Given the description of an element on the screen output the (x, y) to click on. 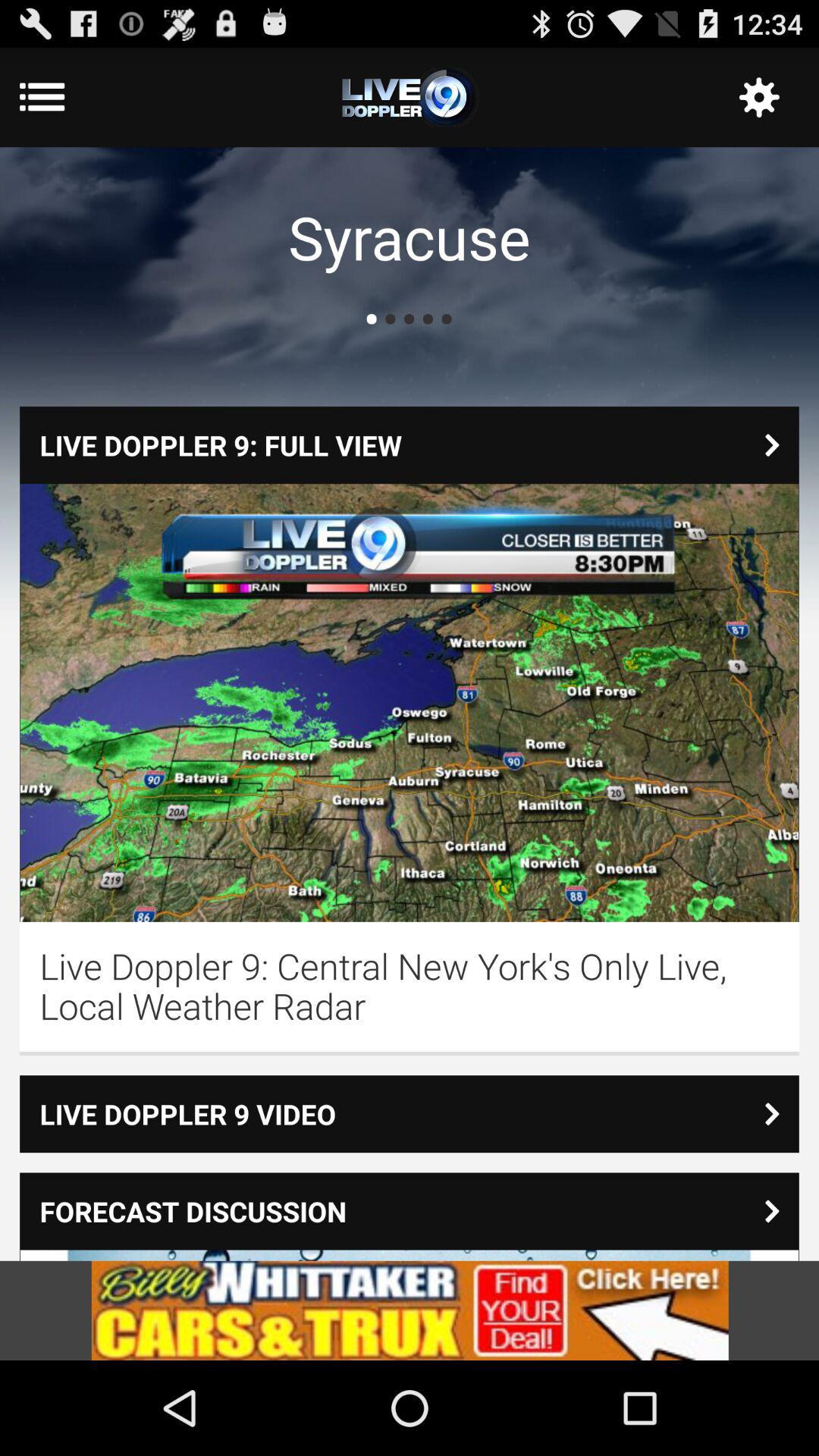
click for advertisement (409, 1310)
